Given the description of an element on the screen output the (x, y) to click on. 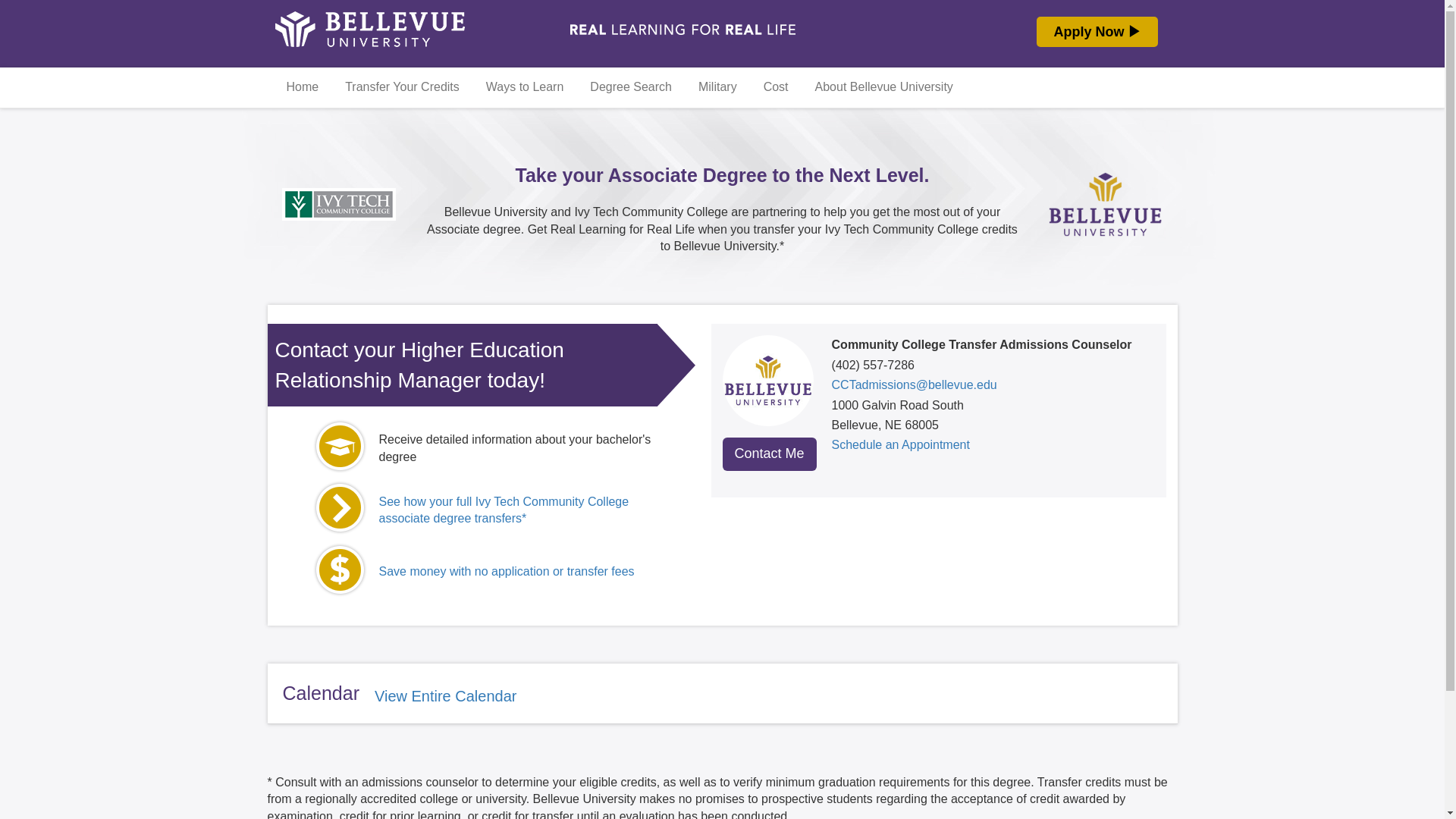
About Bellevue University (878, 87)
Degree Search (624, 87)
Cost (770, 87)
Military (711, 87)
View Entire Calendar (445, 695)
Contact Me (768, 453)
Save money with no application or transfer fees (506, 571)
Bellevue University (369, 42)
Ways to Learn (519, 87)
Schedule an Appointment (900, 444)
Apply Now (1096, 31)
Home (296, 87)
Transfer Your Credits (396, 87)
